Given the description of an element on the screen output the (x, y) to click on. 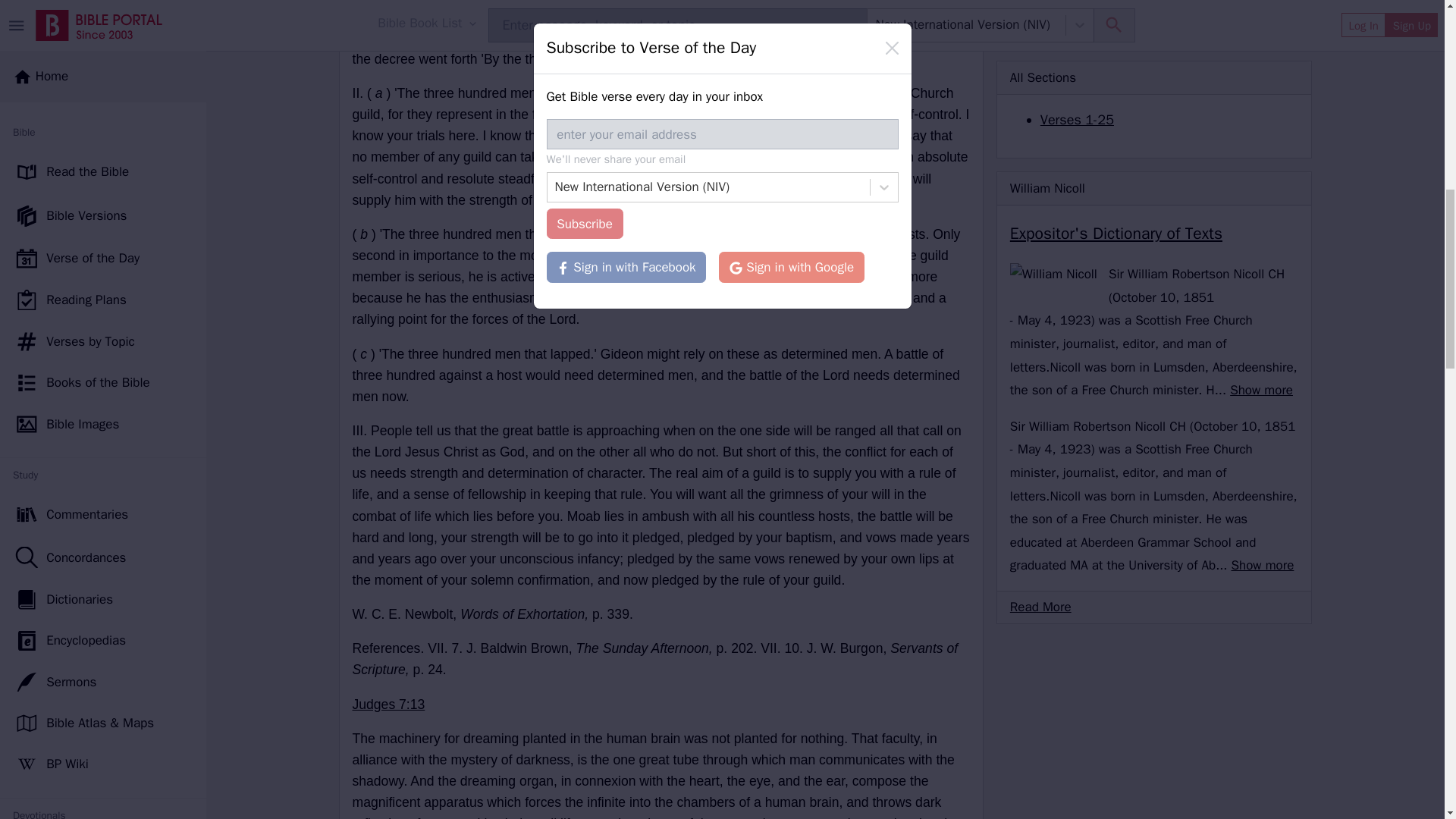
What The Bible Says (103, 414)
Random Bible Verse (103, 620)
Bible Passages - Judges 7:13 - click to view detail (388, 703)
Light of the World (103, 75)
Daily Bread (103, 496)
Bible Stories (103, 579)
Community (103, 661)
Picture Quotes (103, 247)
Today's Devotionals (103, 34)
Inspirational (103, 329)
Bible Study (103, 372)
Inspirational Quotes (103, 158)
Videos (103, 288)
Bible by Genre (103, 537)
All Devotionals (103, 116)
